Given the description of an element on the screen output the (x, y) to click on. 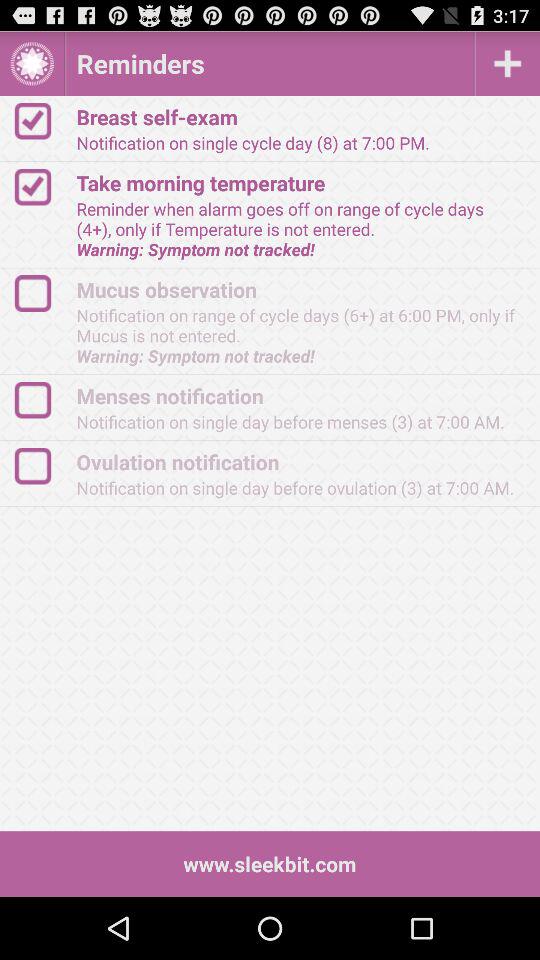
add reminder (507, 63)
